Given the description of an element on the screen output the (x, y) to click on. 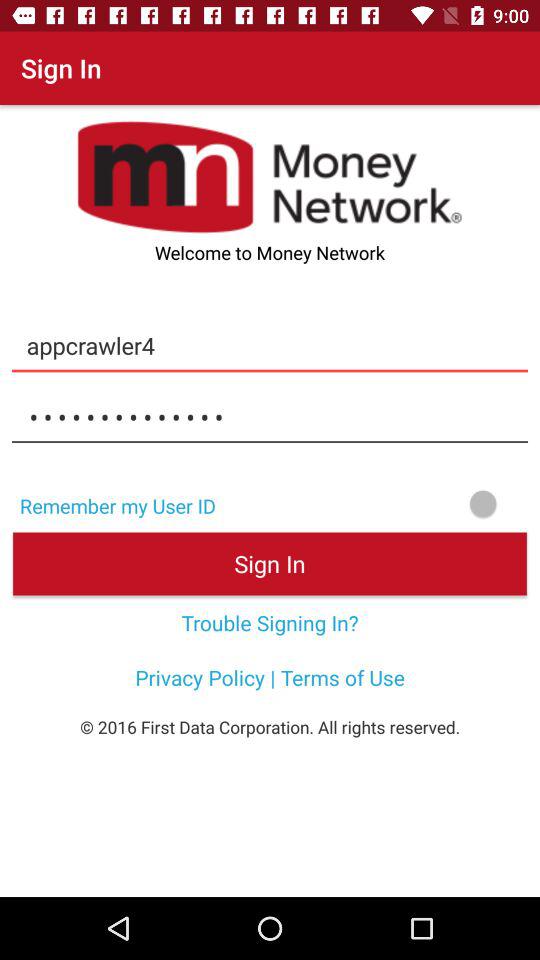
press item above the 2016 first data icon (270, 677)
